Given the description of an element on the screen output the (x, y) to click on. 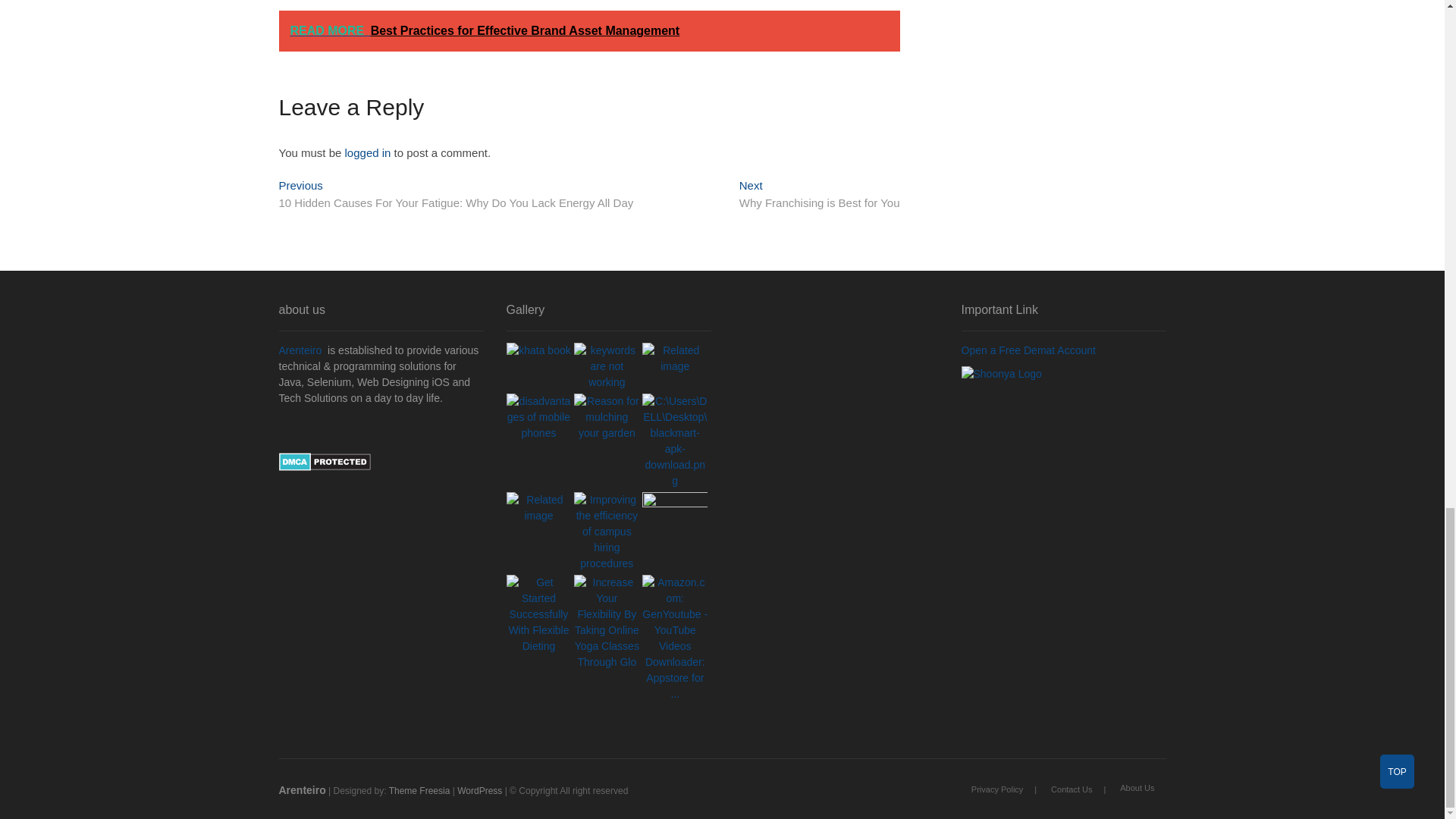
logged in (819, 195)
